Given the description of an element on the screen output the (x, y) to click on. 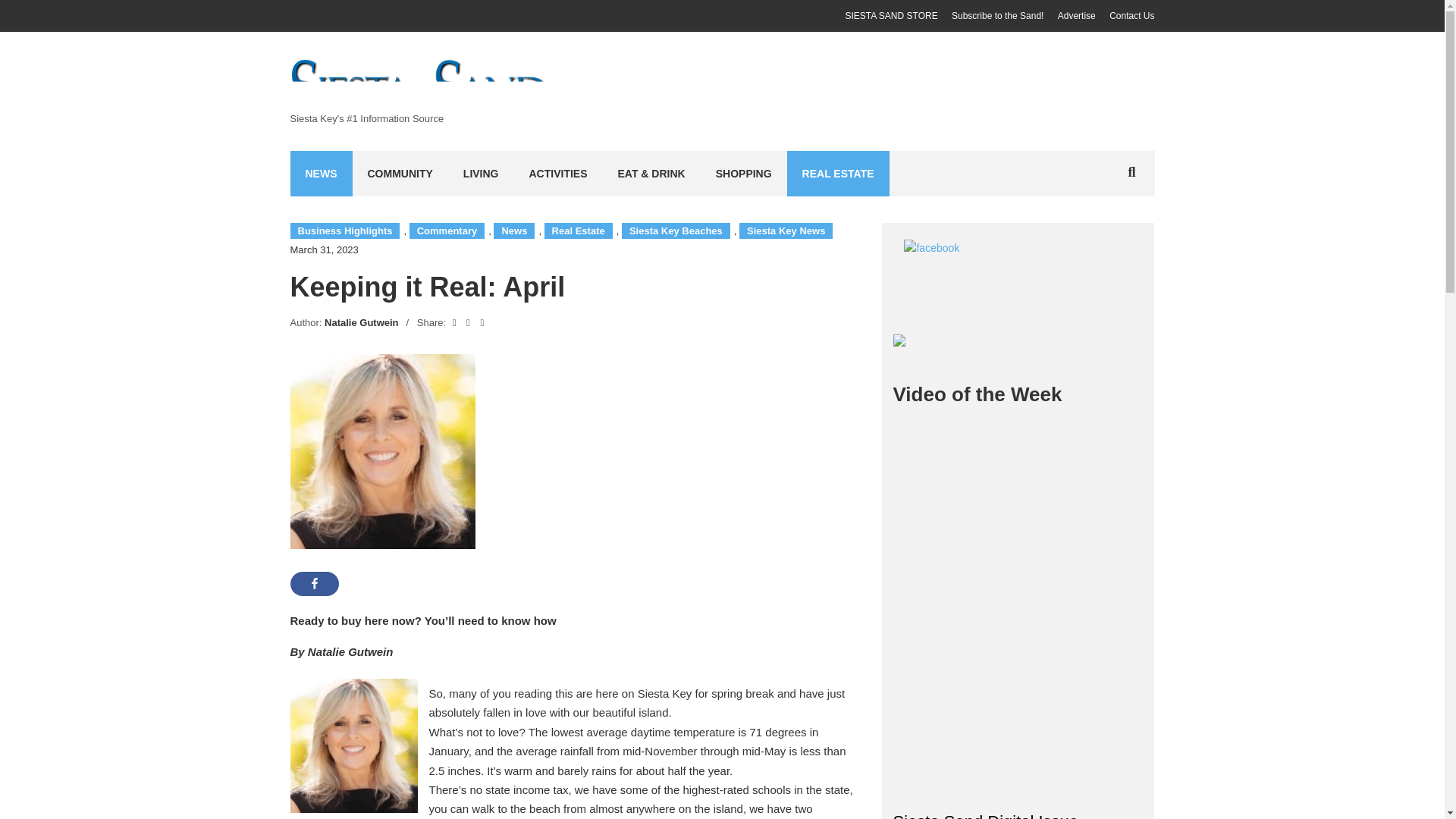
REAL ESTATE (838, 173)
Posts by Natalie Gutwein (361, 322)
Contact Us (1131, 15)
SHOPPING (743, 173)
SIESTA SAND STORE (890, 15)
NEWS (320, 173)
Business Highlights (343, 230)
Advertise (1077, 15)
LIVING (480, 173)
ACTIVITIES (557, 173)
COMMUNITY (399, 173)
Subscribe to the Sand! (997, 15)
Commentary (446, 230)
Share on Facebook (313, 583)
